Given the description of an element on the screen output the (x, y) to click on. 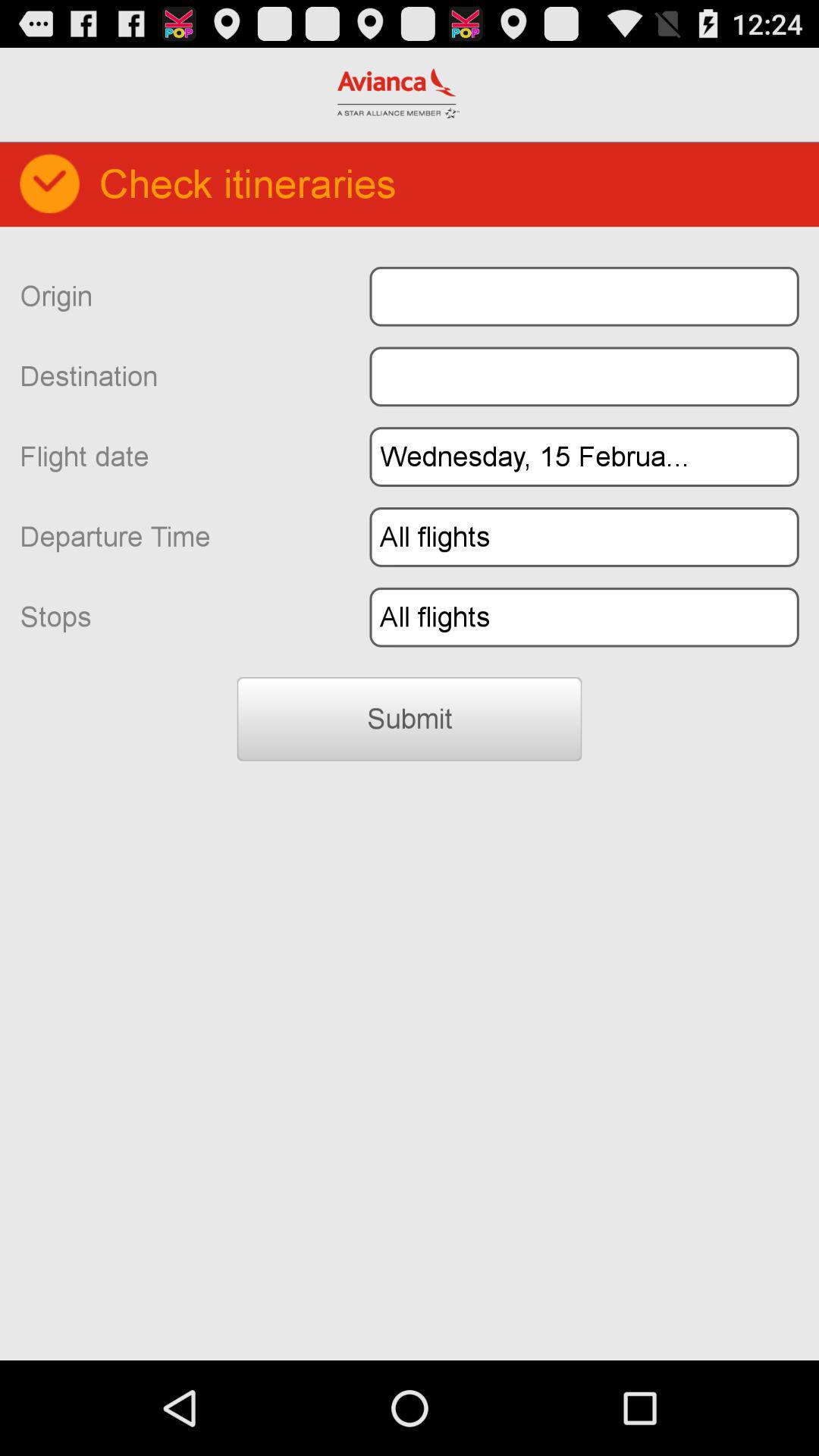
insert orgin (584, 296)
